Given the description of an element on the screen output the (x, y) to click on. 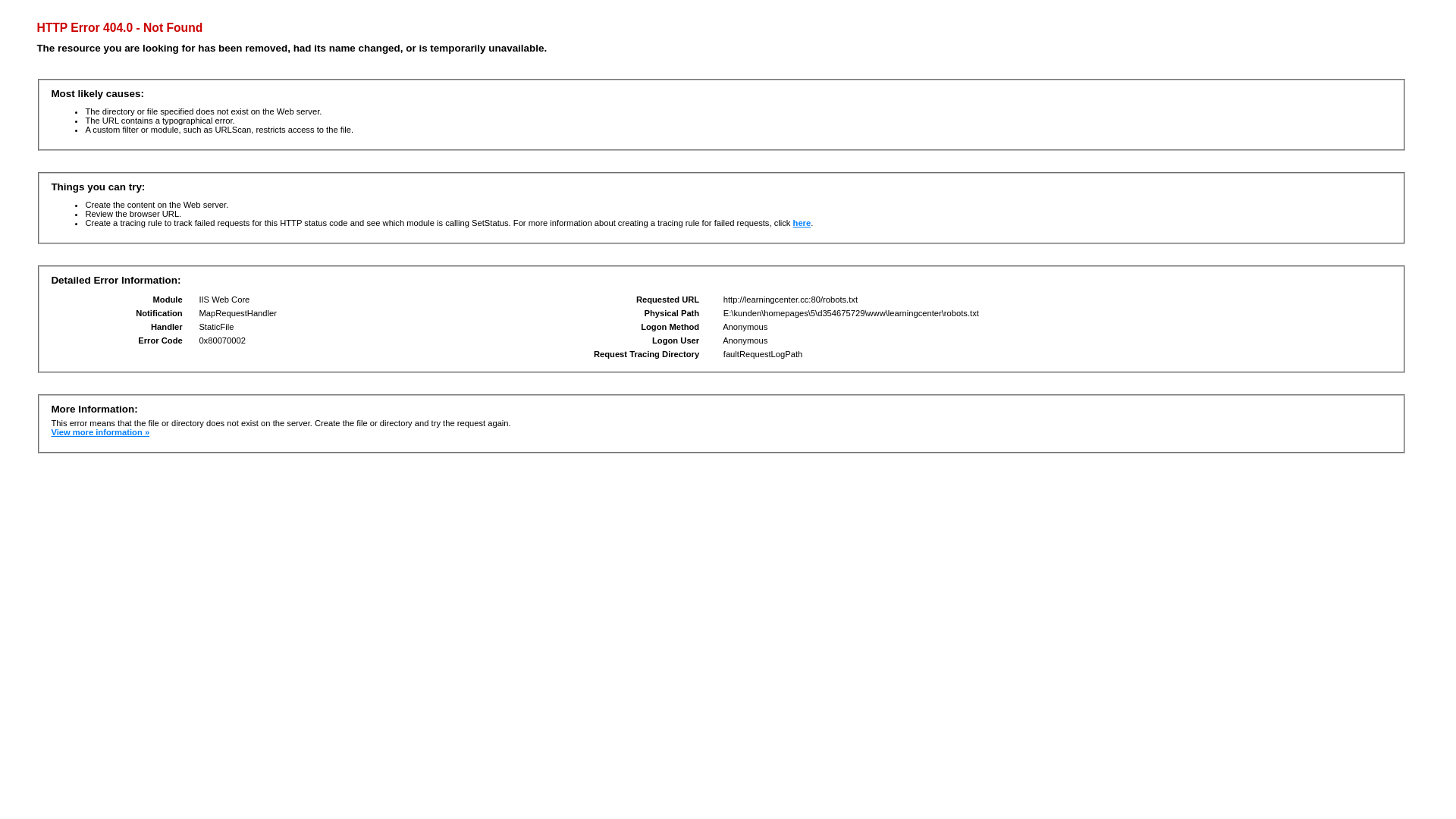
here Element type: text (802, 222)
